Given the description of an element on the screen output the (x, y) to click on. 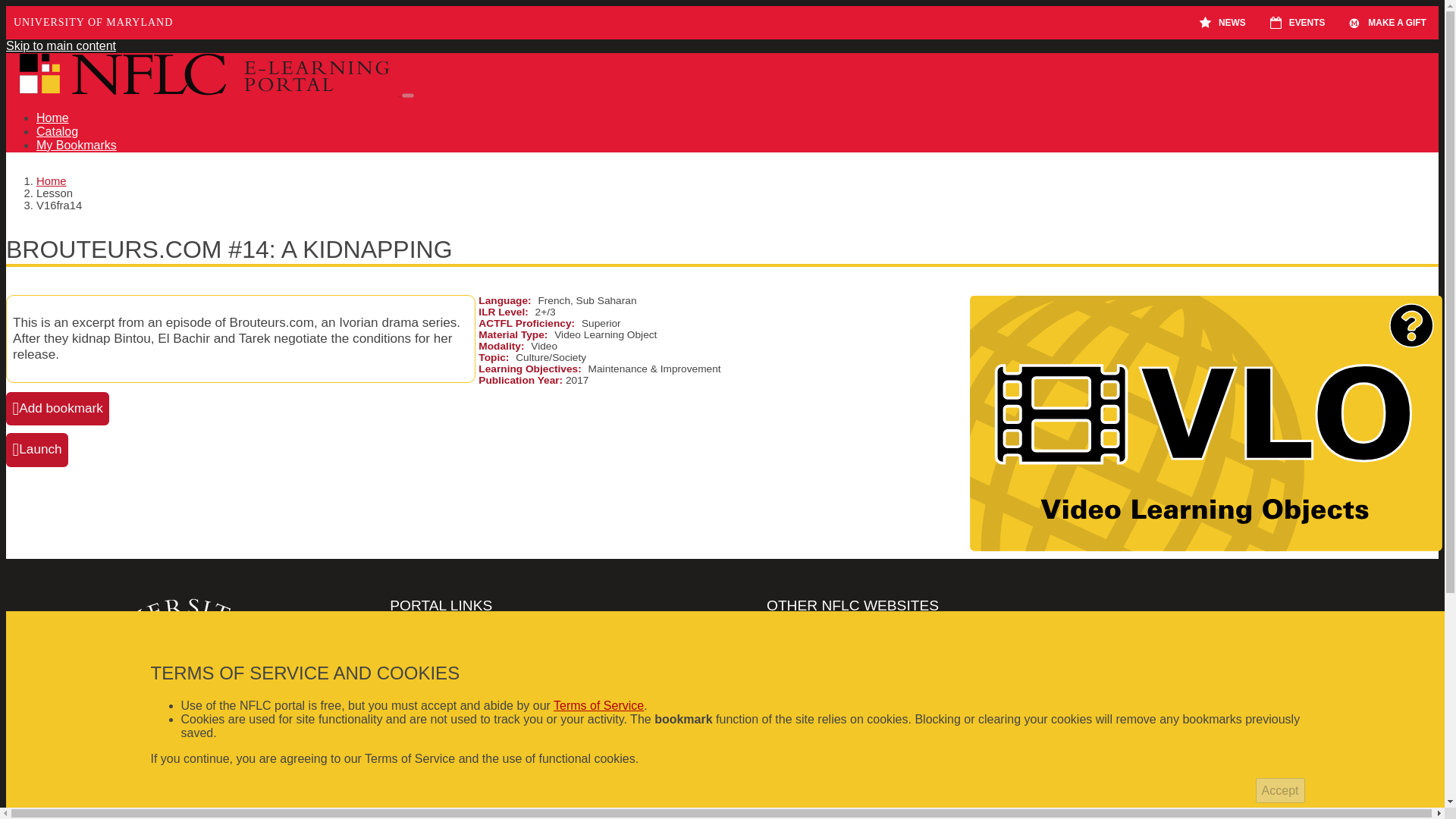
My Bookmarks (76, 144)
Catalog (57, 131)
General Inquiries (576, 669)
STAR (1208, 22)
Add bookmark (57, 408)
CALENDAR (1278, 22)
Terms of Service (598, 705)
Launch (36, 449)
Site Map (576, 684)
Skip to main content (60, 45)
STARNEWS (1222, 22)
Home (51, 181)
GIFTMAKE A GIFT (1387, 22)
UNIVERSITY OF MARYLAND (93, 22)
Accept (1279, 790)
